Given the description of an element on the screen output the (x, y) to click on. 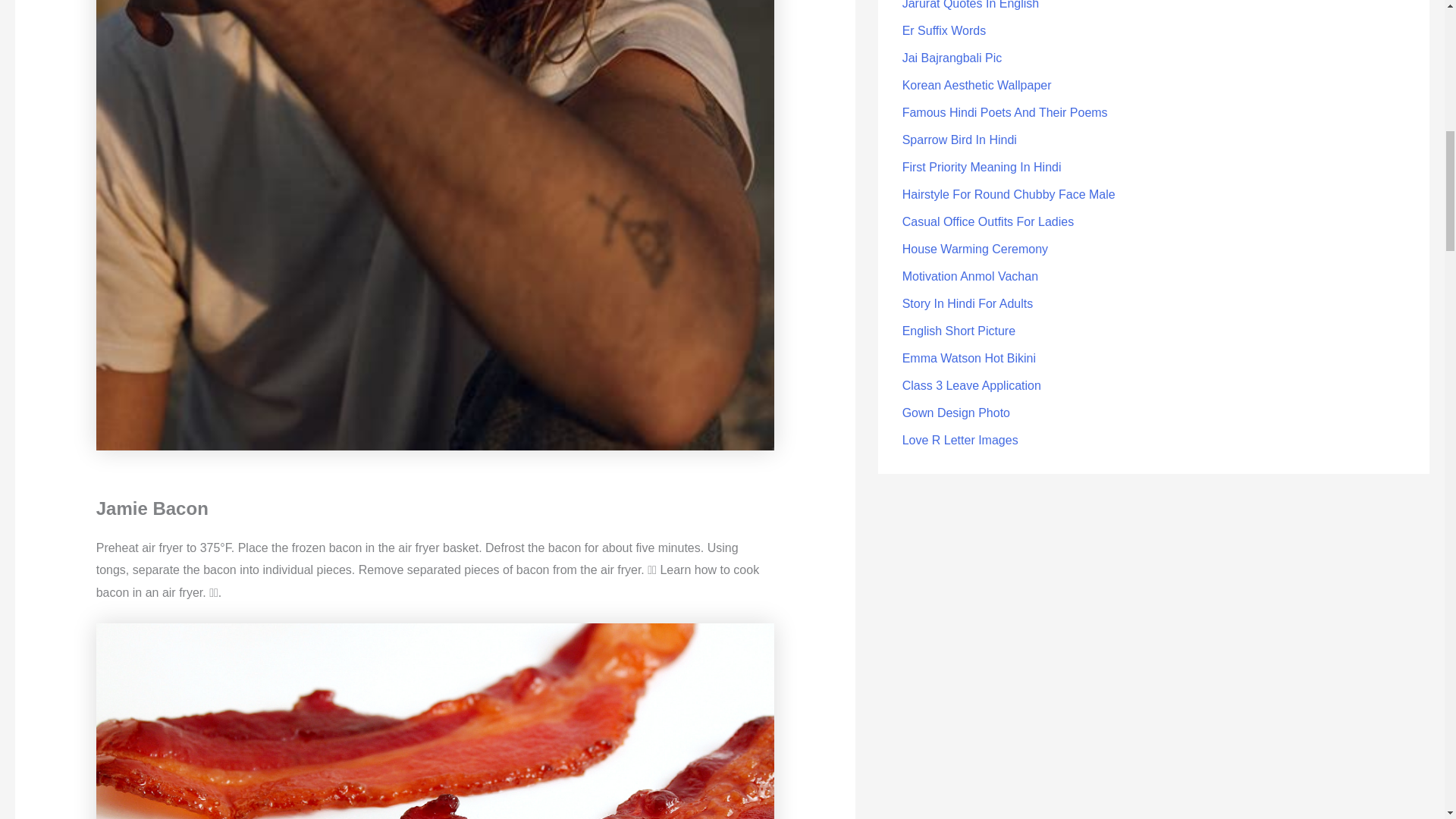
Korean Aesthetic Wallpaper (976, 84)
Er Suffix Words (944, 30)
Jarurat Quotes In English (970, 4)
Jai Bajrangbali Pic (952, 57)
Famous Hindi Poets And Their Poems (1005, 112)
